Given the description of an element on the screen output the (x, y) to click on. 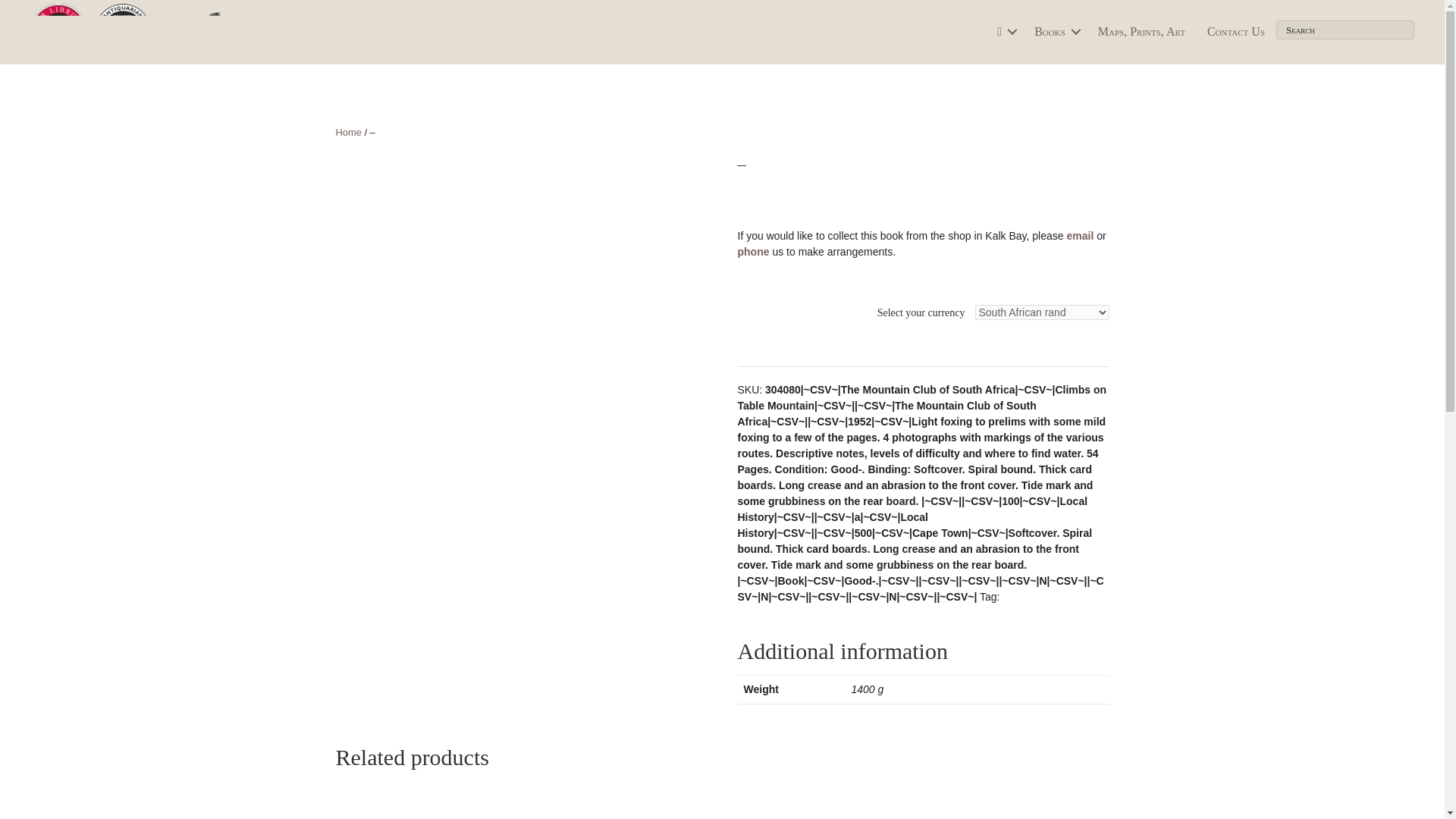
Maps, Prints, Art (1141, 31)
Books (1054, 31)
Quagga Books Extended Logo2 (189, 31)
Search (1344, 29)
Home (347, 132)
Type and press Enter to search. (1344, 29)
Contact Us (1235, 31)
Search (1344, 29)
